Given the description of an element on the screen output the (x, y) to click on. 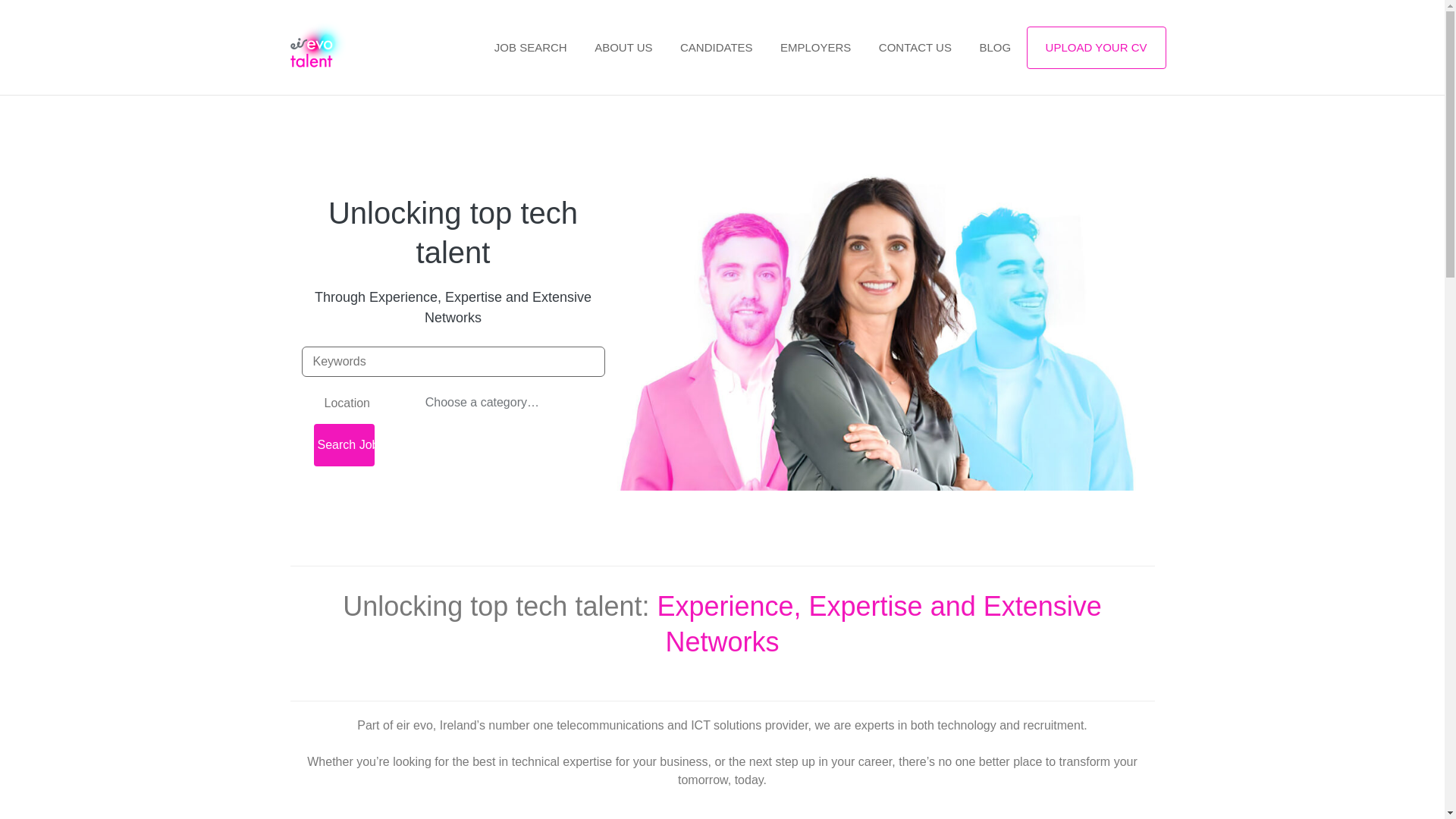
CANDIDATES (716, 47)
CONTACT US (914, 47)
ABOUT US (622, 47)
eir evo talent (332, 47)
Search Jobs (344, 445)
EMPLOYERS (815, 47)
JOB SEARCH (530, 47)
Search Jobs (344, 445)
EIR EVO TALENT (332, 47)
BLOG (994, 47)
UPLOAD YOUR CV (1096, 47)
